Given the description of an element on the screen output the (x, y) to click on. 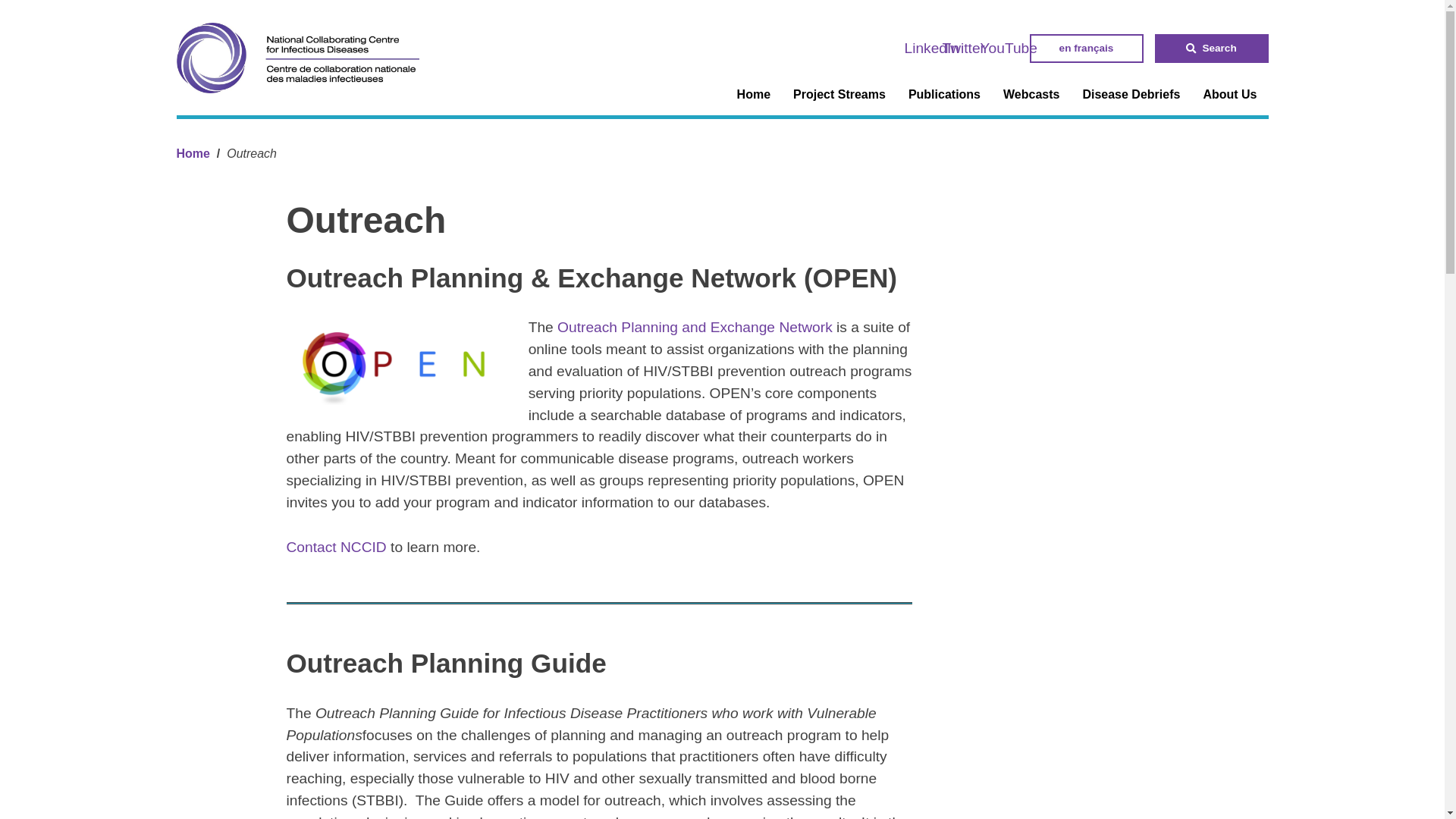
Home (192, 153)
Project Streams (838, 94)
Webcasts (1030, 94)
Outreach Planning and Exchange Network (694, 326)
About Us (1229, 94)
LinkedIn (931, 48)
Disease Debriefs (1130, 94)
Twitter (963, 48)
Home (753, 94)
YouTube (1007, 48)
